Given the description of an element on the screen output the (x, y) to click on. 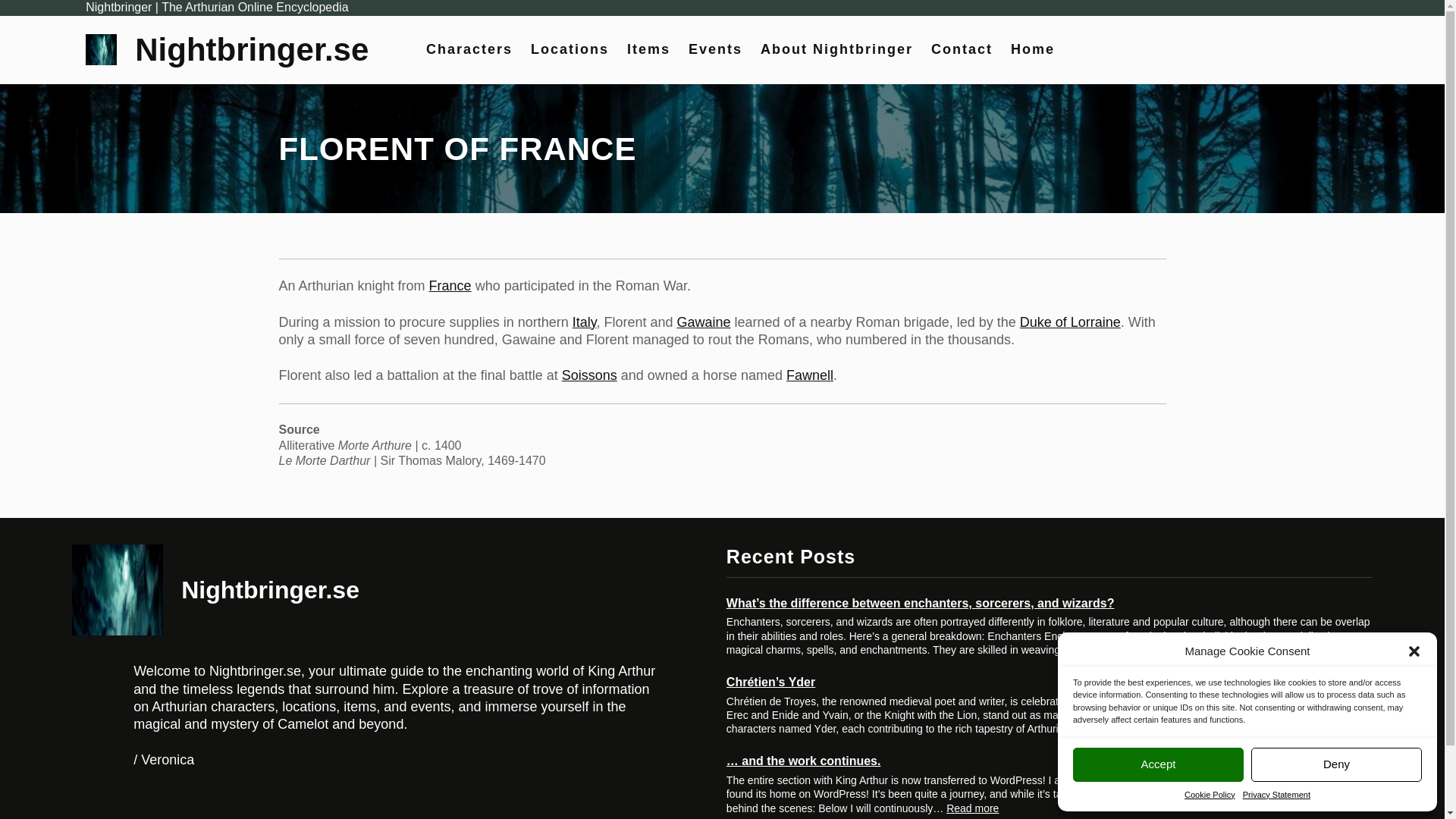
Duke of Lorraine (1070, 322)
Read more (972, 807)
Read more (1144, 728)
Deny (1336, 764)
Gawaine (703, 322)
Soissons (589, 375)
Read more (1289, 649)
Contact (961, 49)
Accept (1158, 764)
Events (715, 49)
Characters (469, 49)
Italy (584, 322)
Cookie Policy (1209, 794)
Items (648, 49)
France (450, 285)
